Given the description of an element on the screen output the (x, y) to click on. 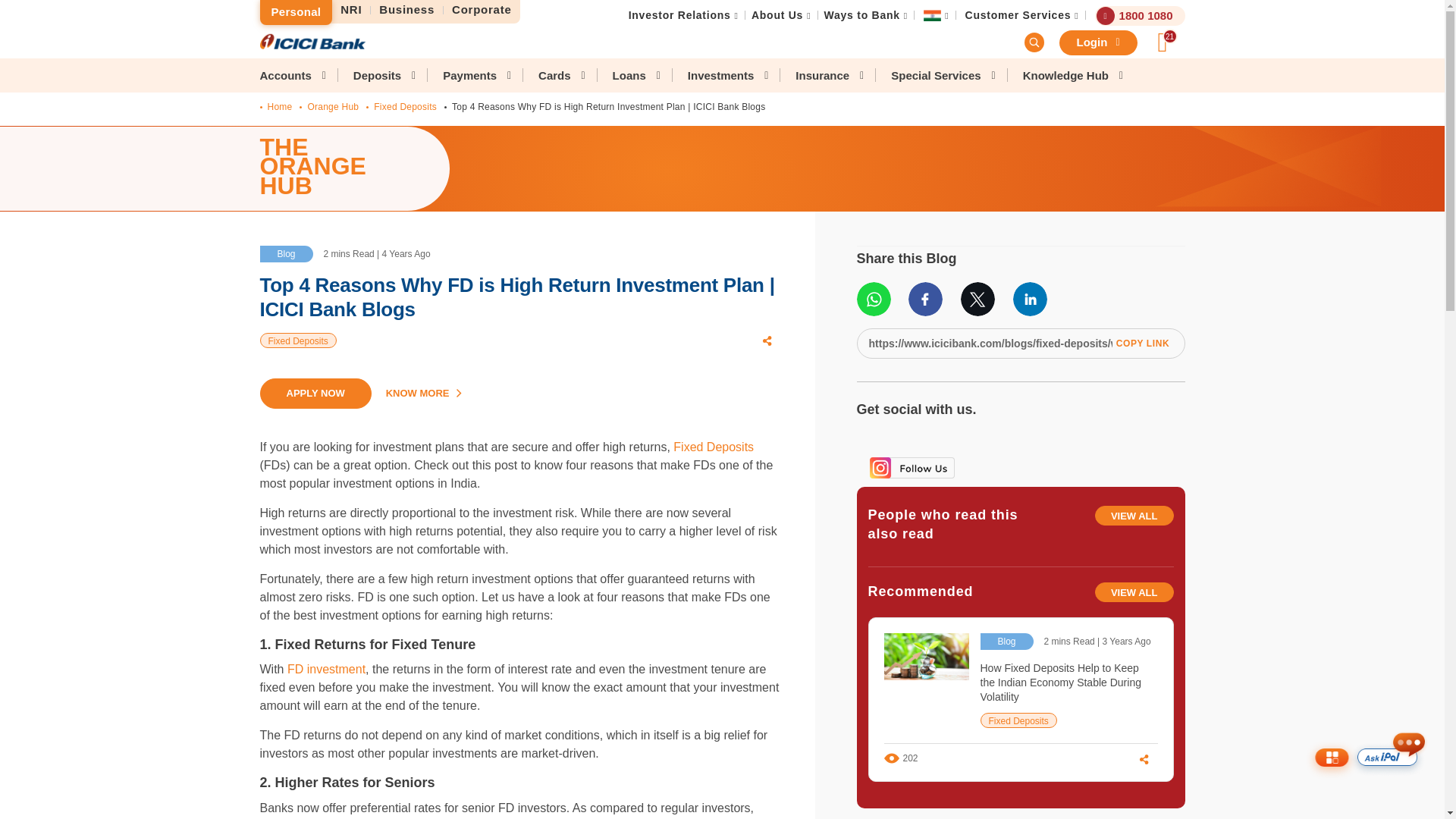
Personal (295, 12)
NRI (351, 9)
Ways to Bank (861, 15)
Customer Services (1018, 15)
Corporate (481, 9)
Investor Relations (679, 15)
Business (407, 9)
About Us (777, 15)
